Given the description of an element on the screen output the (x, y) to click on. 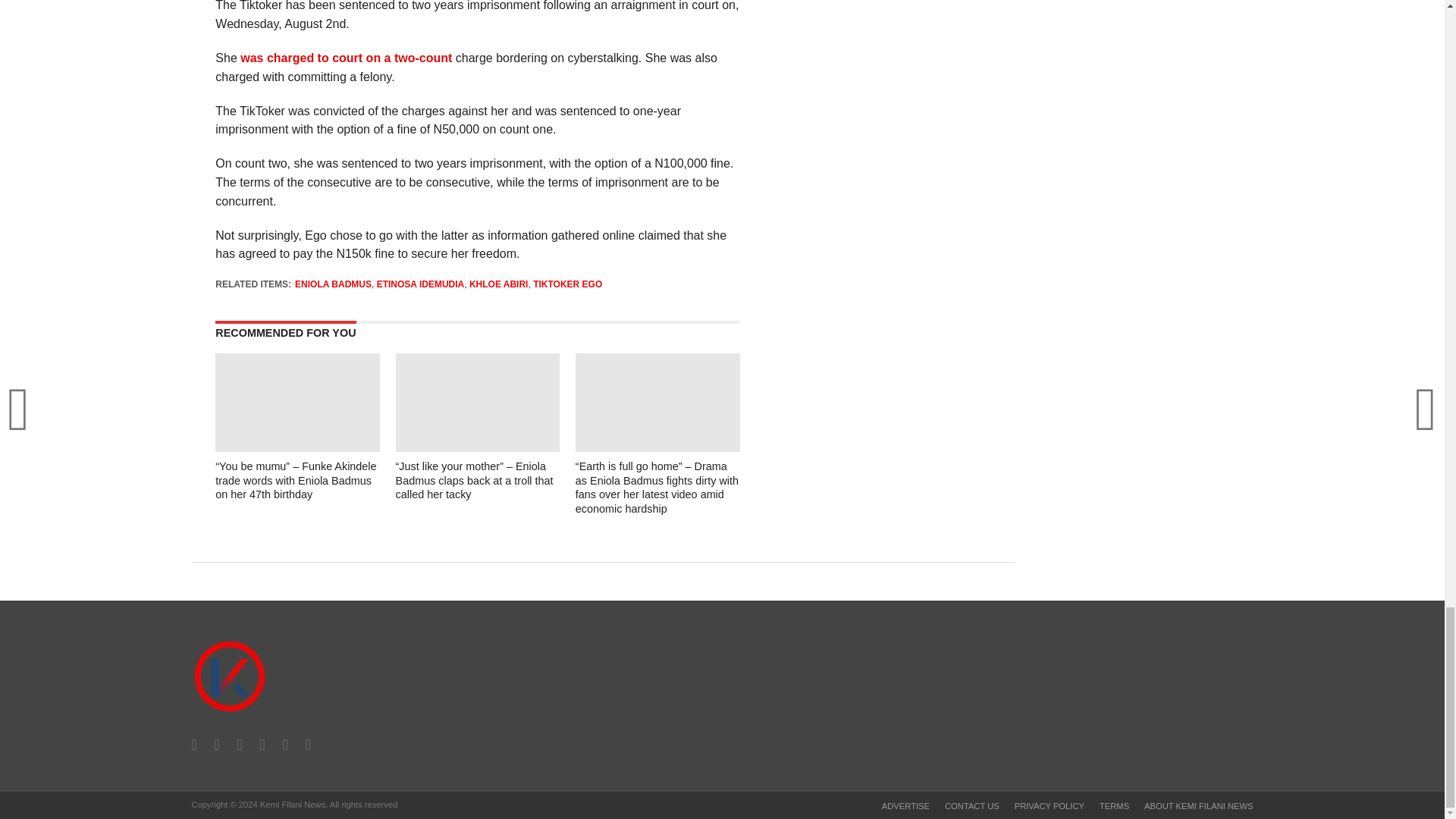
ETINOSA IDEMUDIA (420, 284)
ENIOLA BADMUS (333, 284)
TIKTOKER EGO (567, 284)
was charged to court on a two-count (347, 57)
KHLOE ABIRI (498, 284)
